Given the description of an element on the screen output the (x, y) to click on. 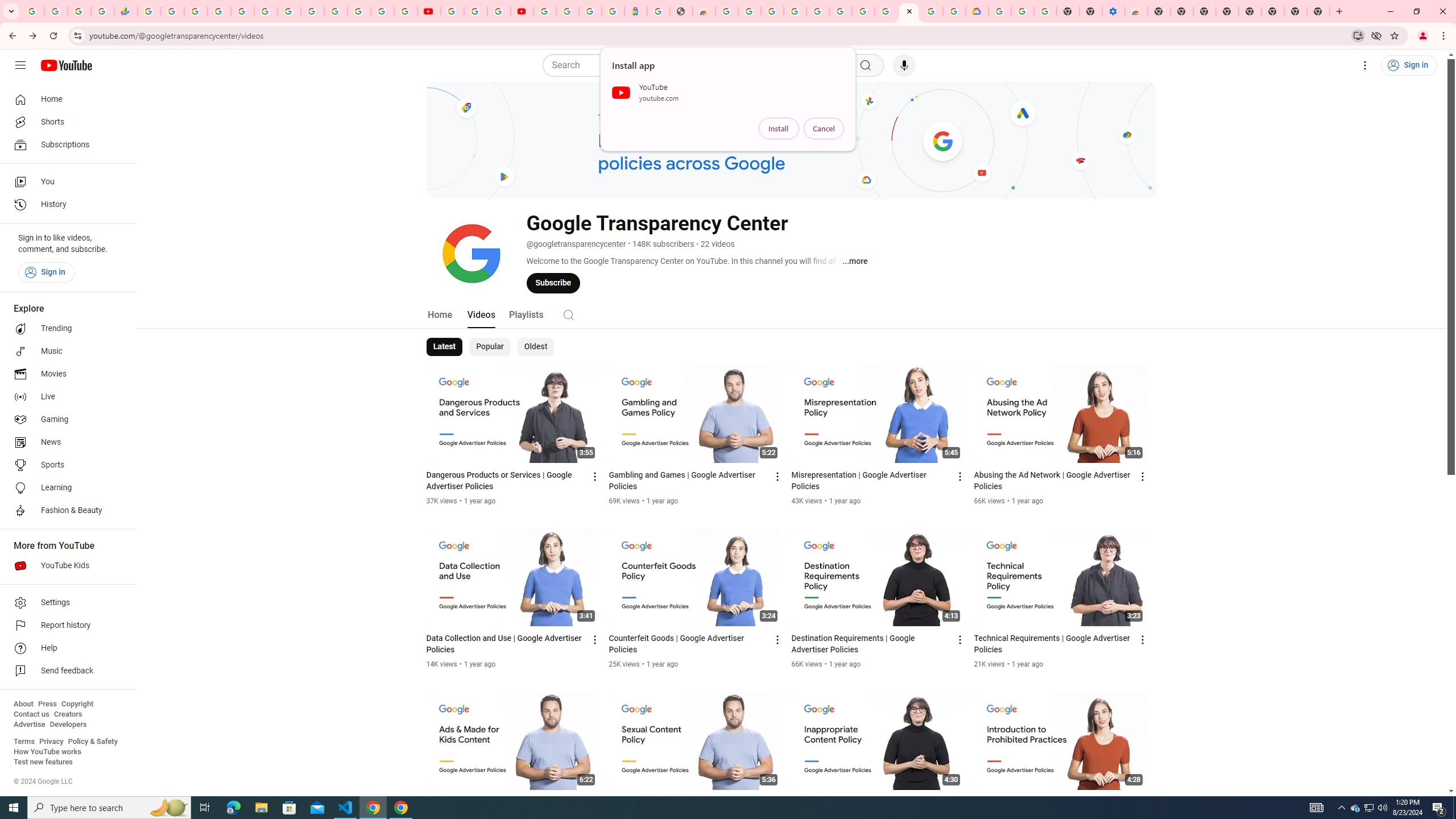
Settings - Accessibility (1113, 11)
Creators (67, 714)
Atour Hotel - Google hotels (635, 11)
Create your Google Account (498, 11)
History (64, 204)
Policy & Safety (91, 741)
Turn cookies on or off - Computer - Google Account Help (1045, 11)
Subscriptions (64, 144)
Music (64, 350)
